Given the description of an element on the screen output the (x, y) to click on. 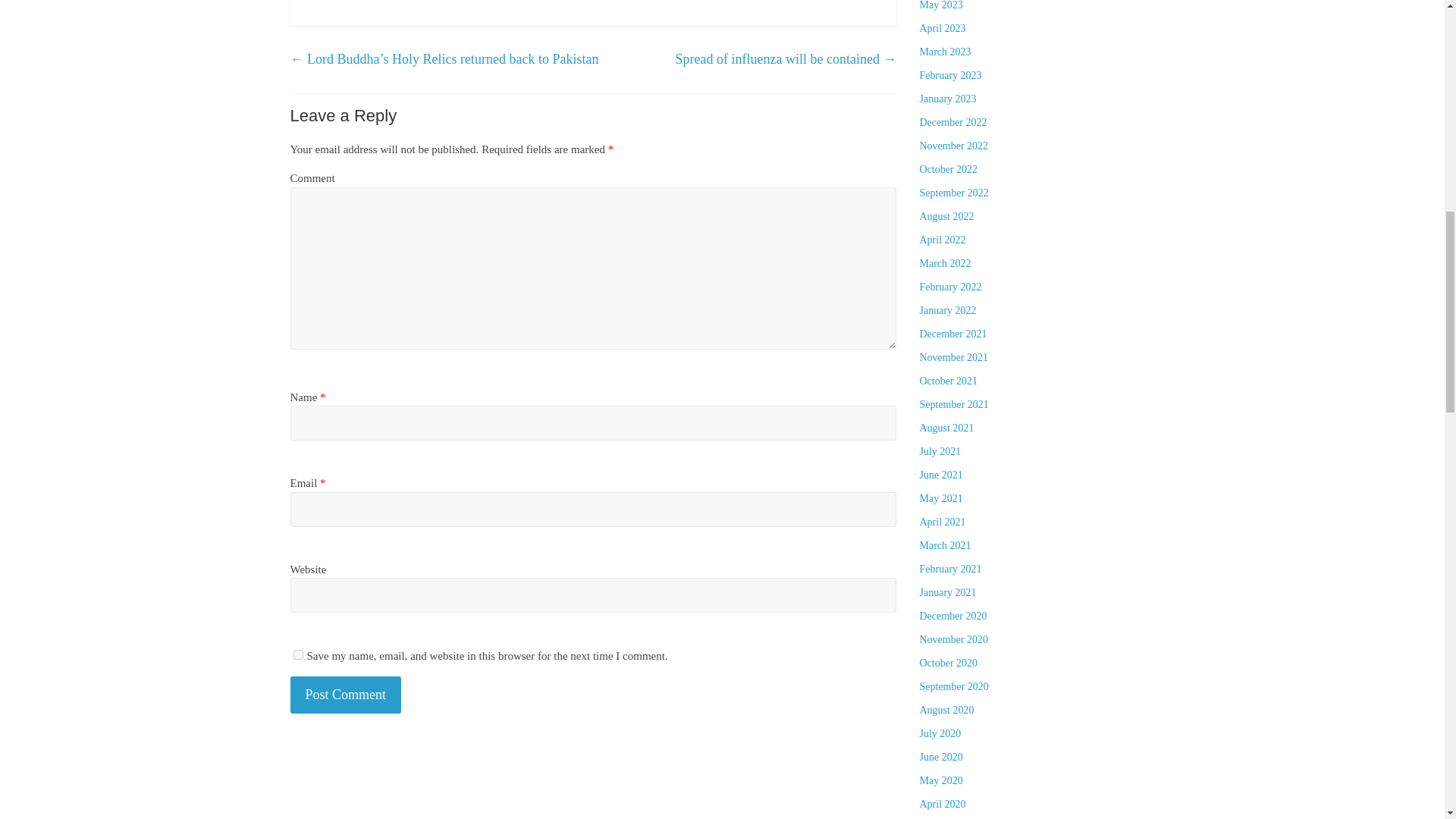
May 2023 (940, 5)
February 2023 (949, 75)
April 2023 (941, 28)
Post Comment (345, 694)
January 2023 (946, 98)
yes (297, 655)
March 2023 (944, 51)
Post Comment (345, 694)
